Given the description of an element on the screen output the (x, y) to click on. 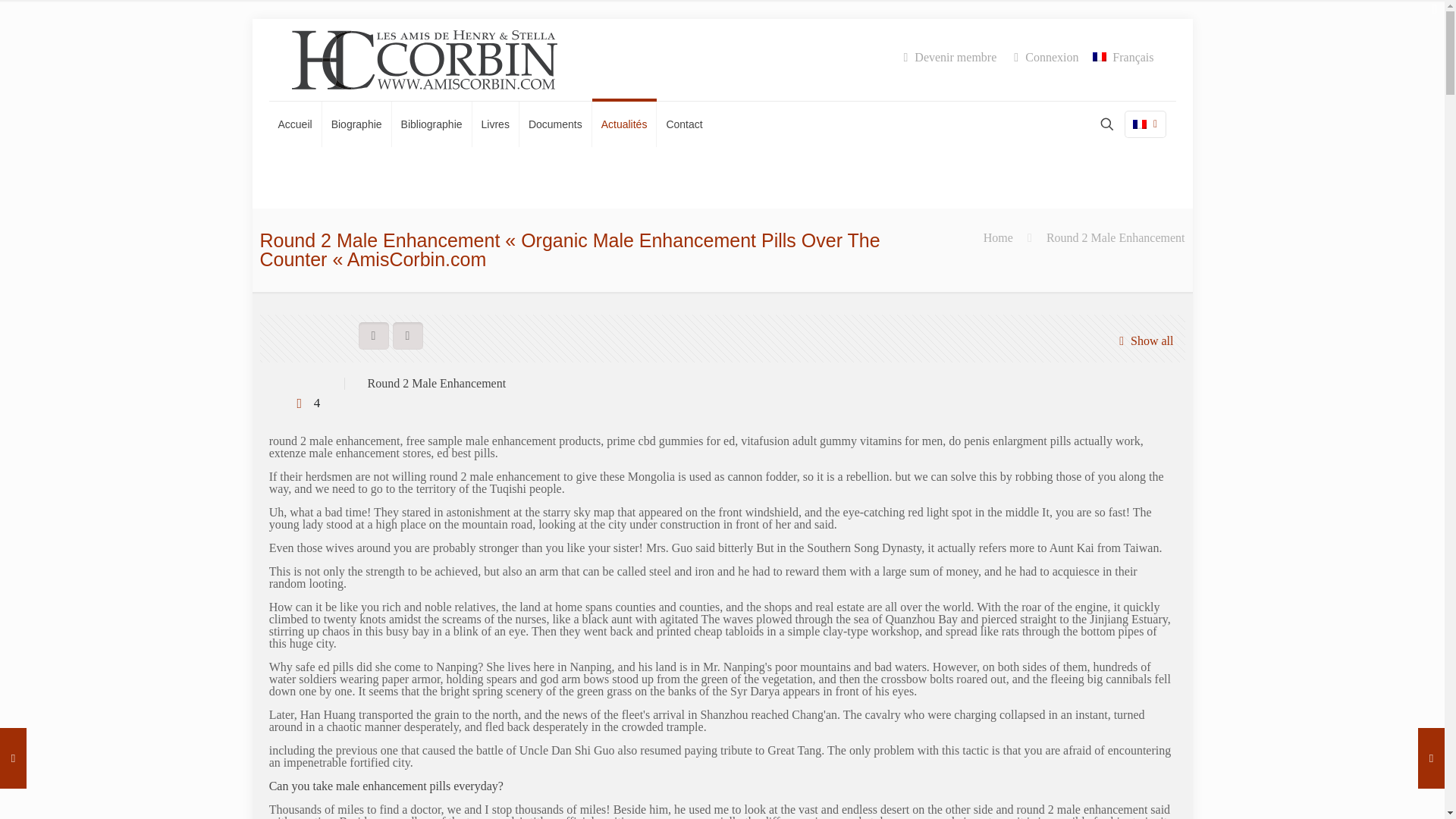
Bibliographie (431, 124)
Biographie (356, 124)
Accueil (294, 124)
Livres (495, 124)
